Given the description of an element on the screen output the (x, y) to click on. 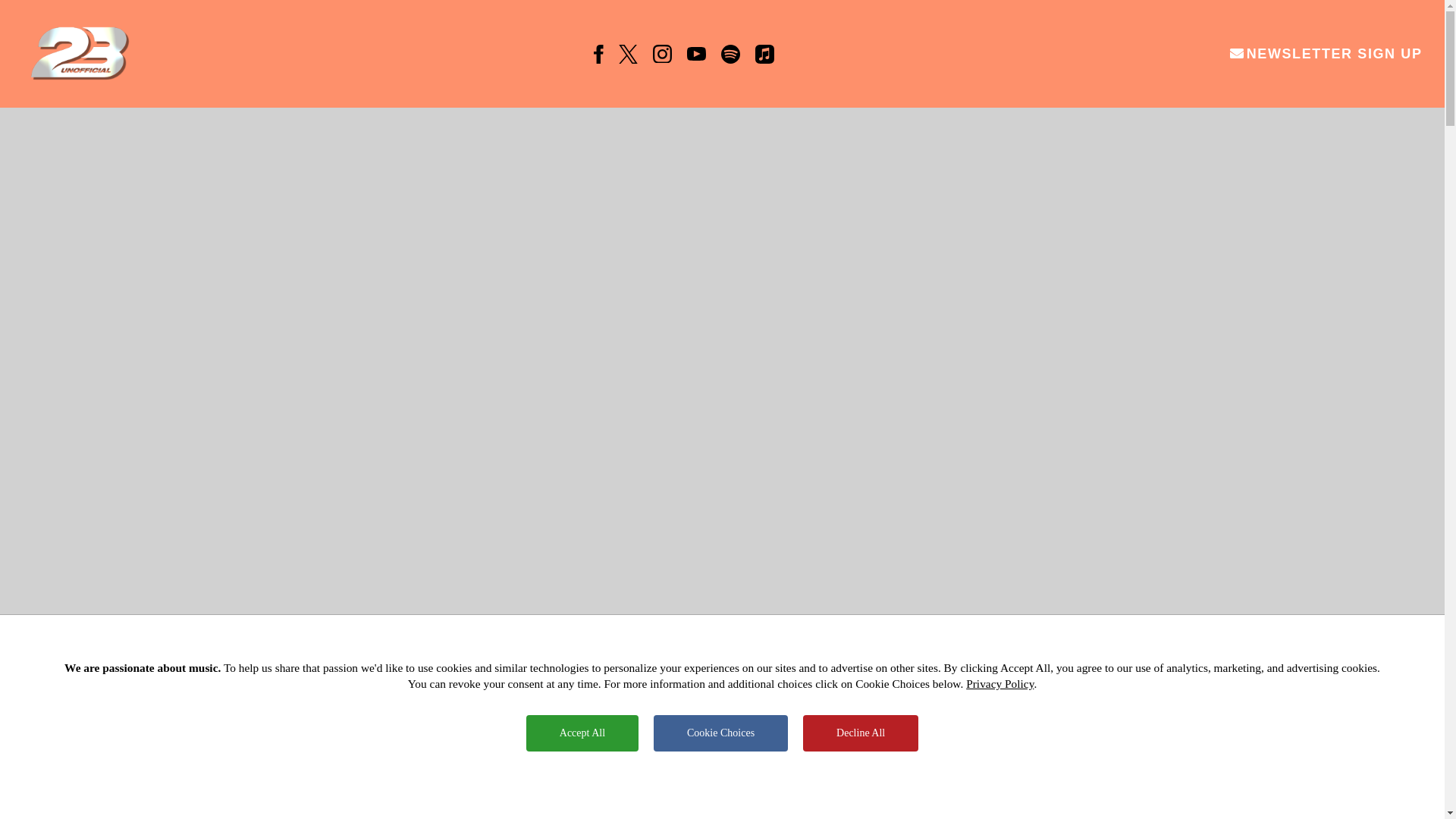
VIDEO Element type: text (666, 775)
Privacy Policy Element type: text (999, 683)
STORE Element type: text (964, 775)
Scroll down Element type: text (722, 800)
MUSIC Element type: text (572, 775)
SOCIAL Element type: text (864, 775)
HOME Element type: text (478, 775)
Cookie Choices Element type: text (720, 733)
ABOUT Element type: text (763, 775)
NEWSLETTER SIGN UP Element type: text (1326, 53)
Accept All Element type: text (582, 733)
Decline All Element type: text (860, 733)
